Given the description of an element on the screen output the (x, y) to click on. 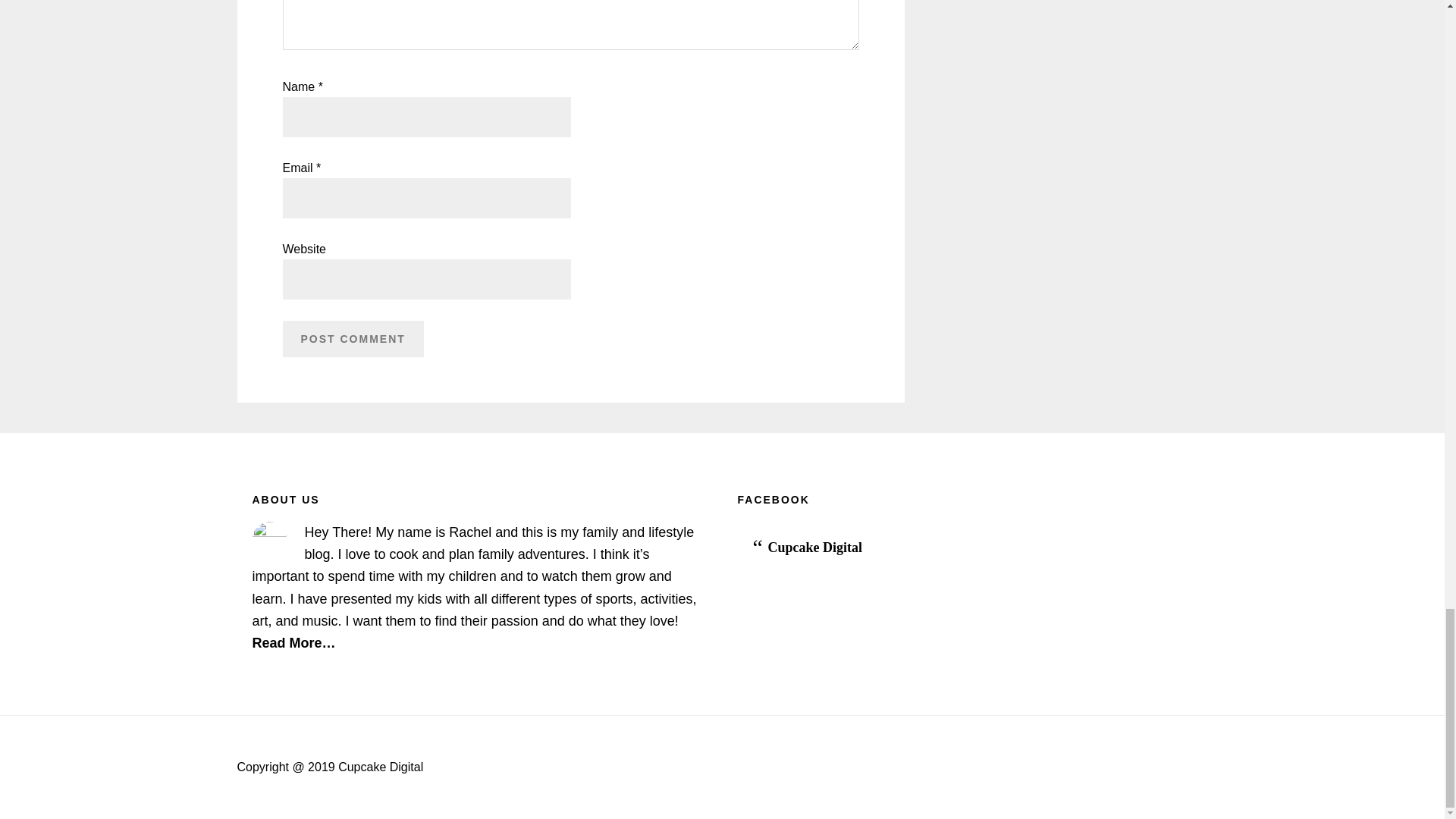
Post Comment (352, 339)
Post Comment (352, 339)
Cupcake Digital (814, 547)
